Given the description of an element on the screen output the (x, y) to click on. 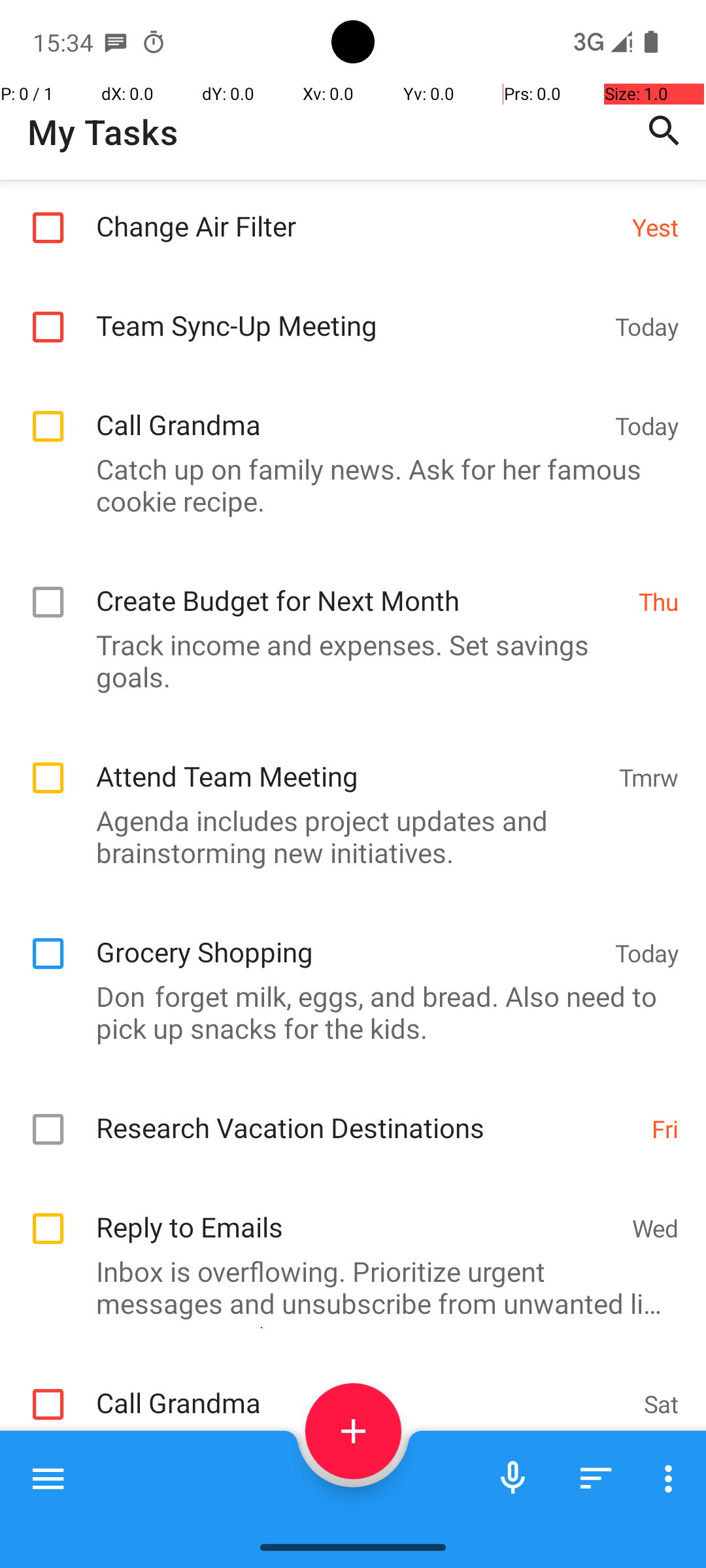
Team Sync-Up Meeting Element type: android.widget.TextView (348, 310)
